Given the description of an element on the screen output the (x, y) to click on. 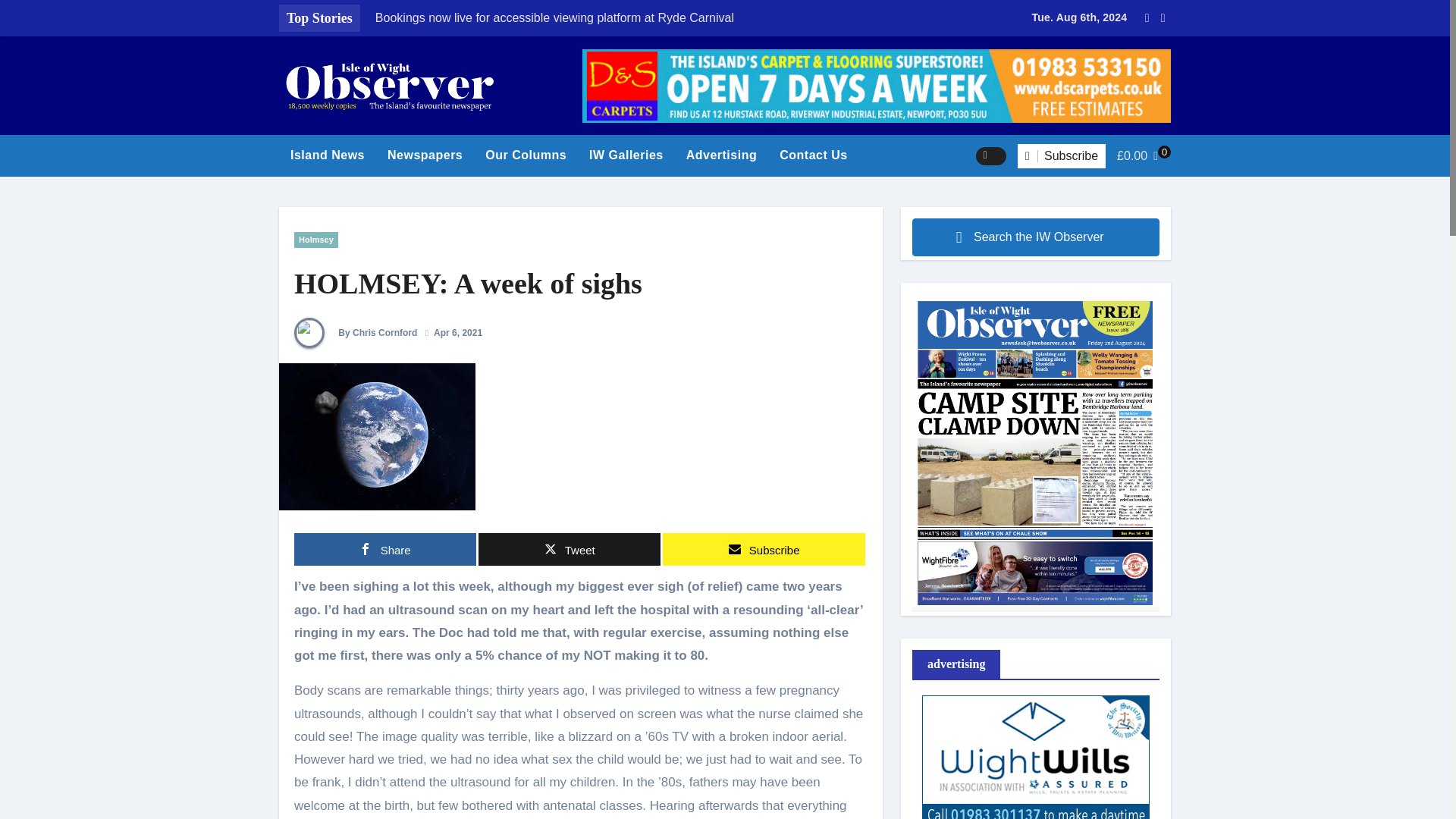
Newspapers (424, 155)
Our Columns (526, 155)
Island News (327, 155)
